Given the description of an element on the screen output the (x, y) to click on. 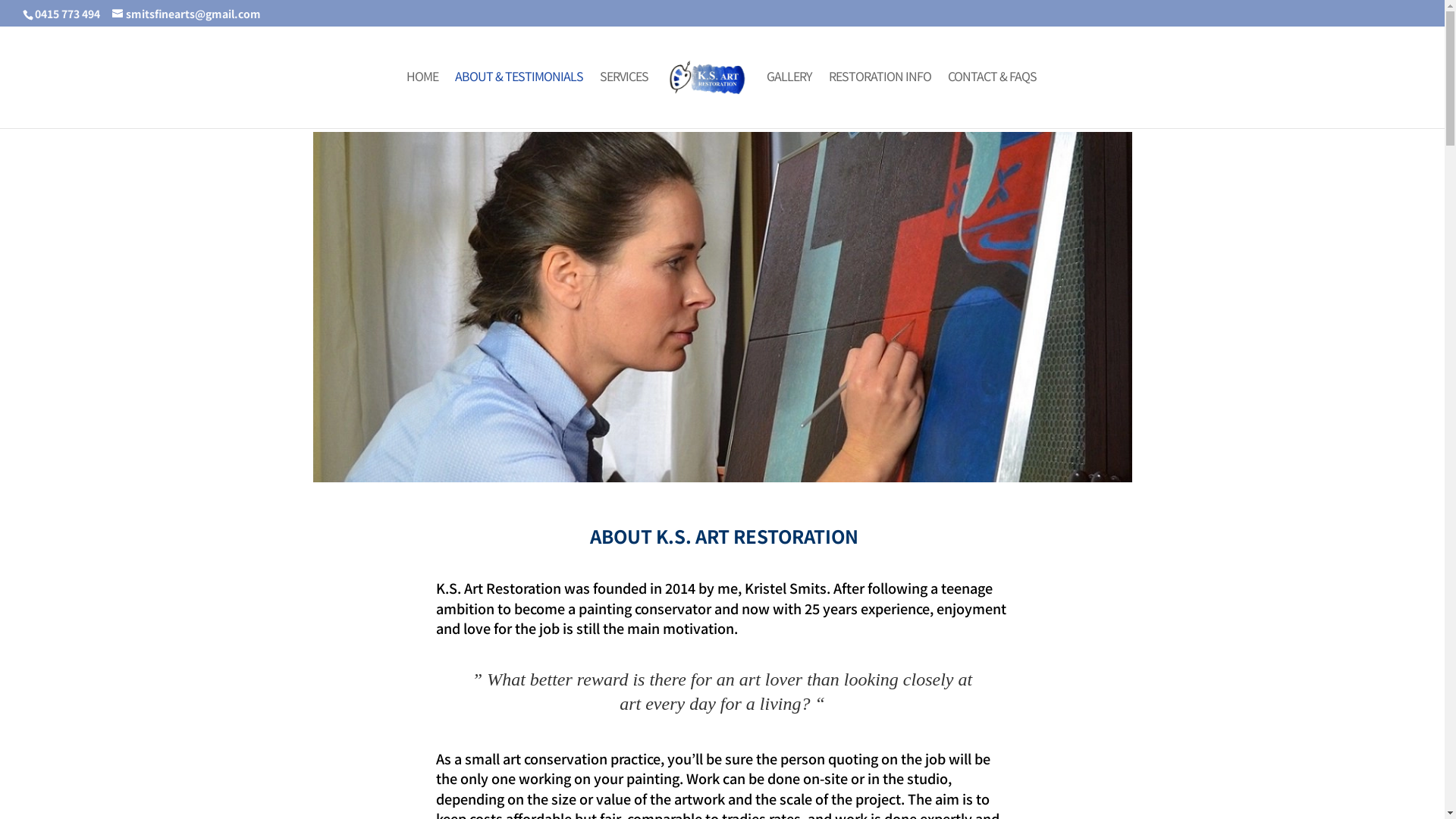
SERVICES Element type: text (623, 97)
HOME Element type: text (422, 97)
smitsfinearts@gmail.com Element type: text (186, 13)
RESTORATION INFO Element type: text (879, 97)
GALLERY Element type: text (789, 97)
CONTACT & FAQS Element type: text (991, 97)
ABOUT & TESTIMONIALS Element type: text (519, 97)
Kristel Smits - painting restoration Katoomba Element type: hover (721, 306)
